Given the description of an element on the screen output the (x, y) to click on. 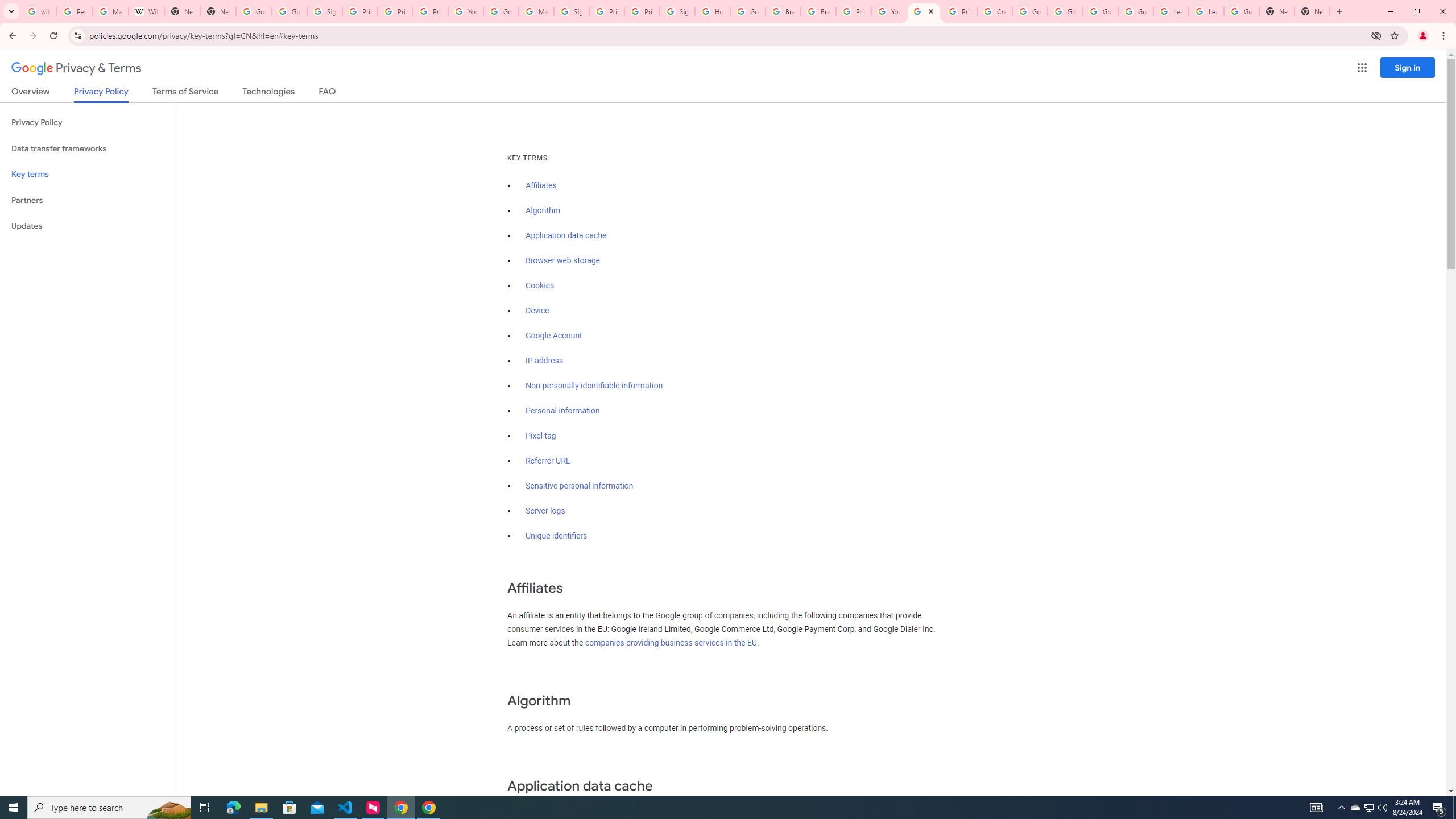
Wikipedia:Edit requests - Wikipedia (145, 11)
Pixel tag (540, 435)
Google Account Help (501, 11)
Address and search bar (726, 35)
Google apps (1362, 67)
Manage your Location History - Google Search Help (110, 11)
Sign in - Google Accounts (571, 11)
Privacy Policy (86, 122)
New Tab (1312, 11)
Cookies (539, 285)
